Given the description of an element on the screen output the (x, y) to click on. 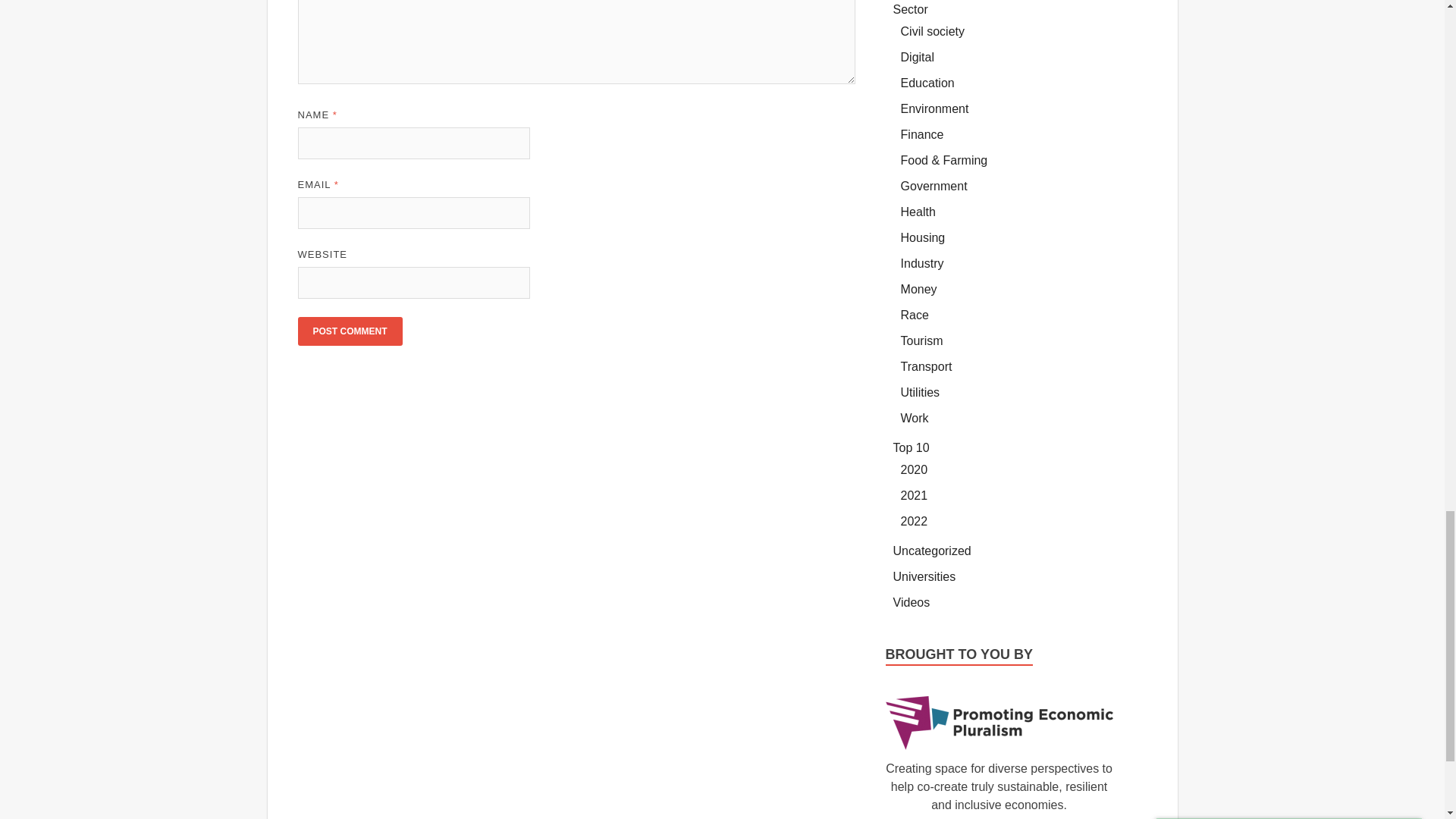
Post Comment (349, 330)
Brought to you by (999, 723)
